Given the description of an element on the screen output the (x, y) to click on. 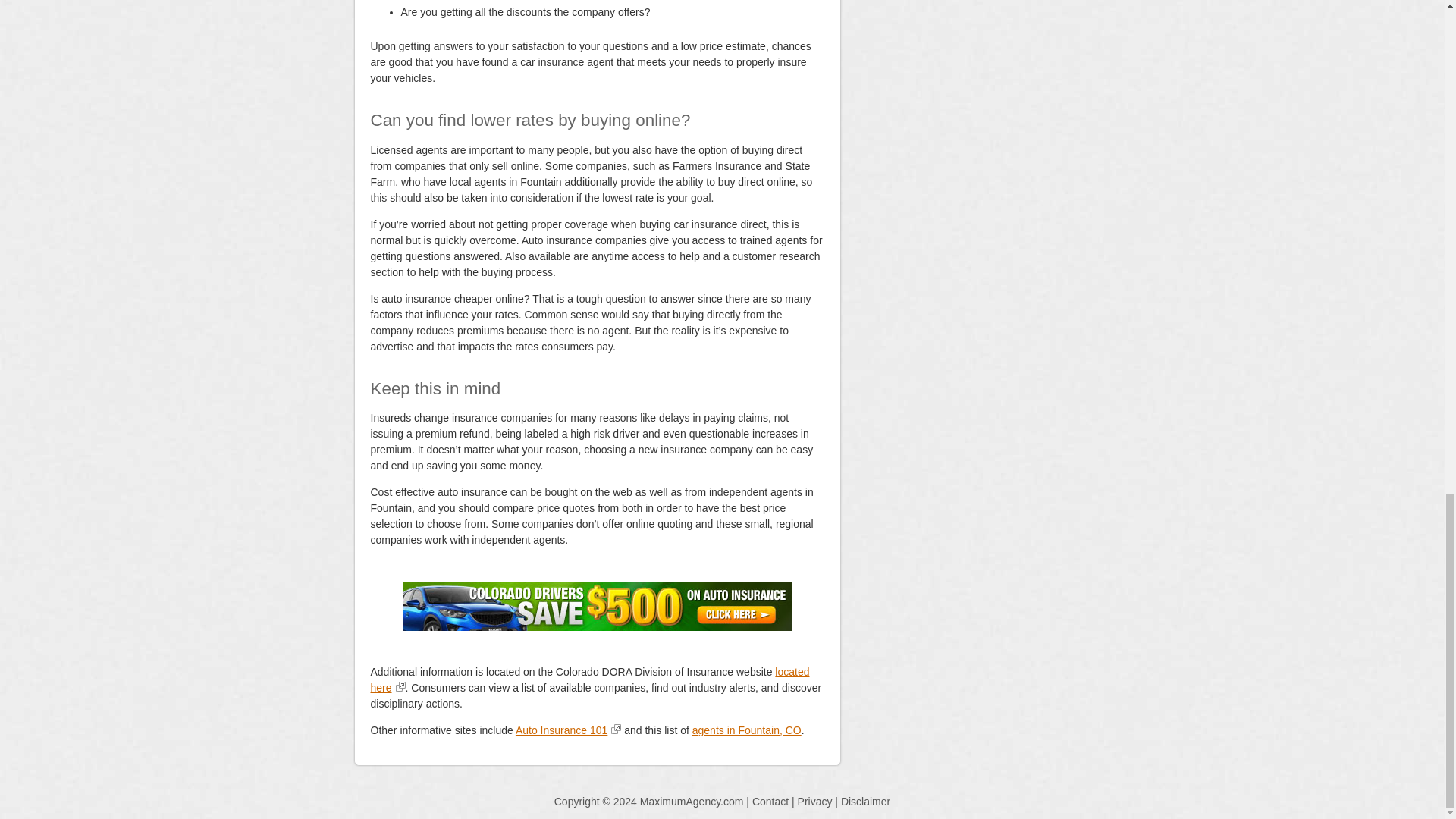
agents in Fountain, CO (747, 729)
Disclaimer (865, 801)
Privacy (814, 801)
Contact (770, 801)
located here (589, 679)
Auto Insurance 101 (568, 729)
